Given the description of an element on the screen output the (x, y) to click on. 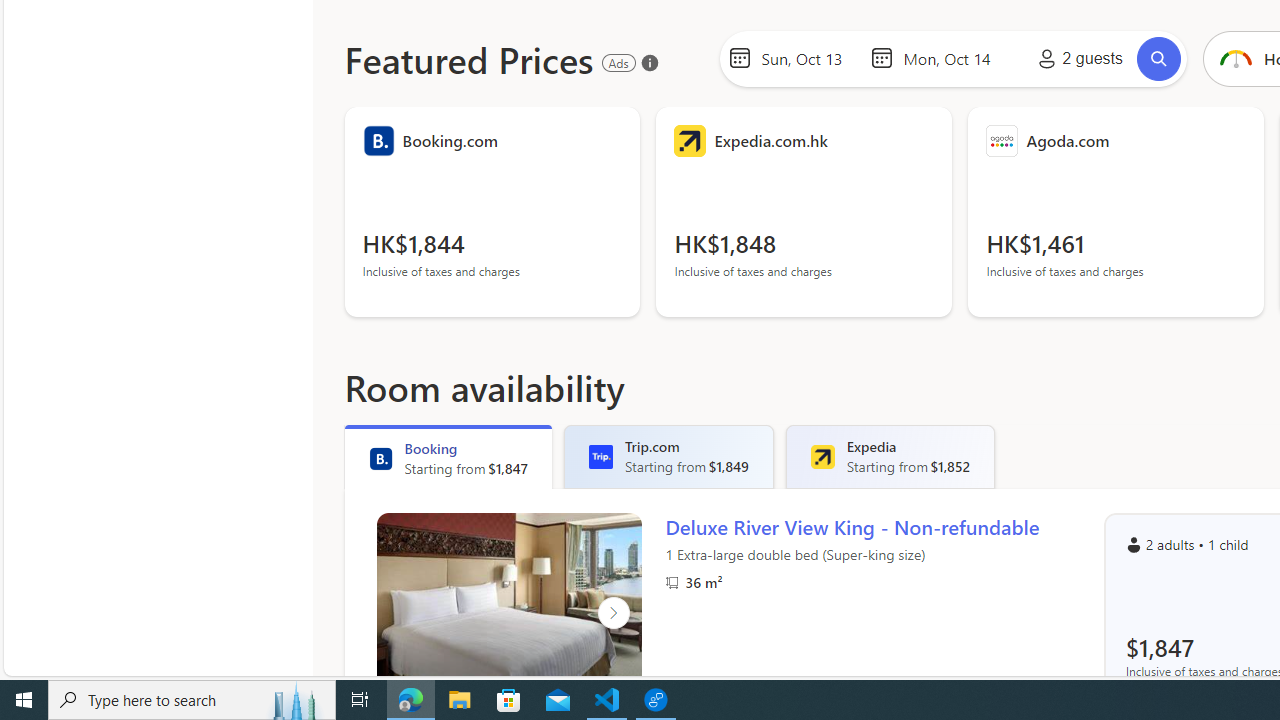
Expedia Expedia Starting from $1,852 (889, 456)
Partner Image (671, 582)
Vendor Logo (1001, 140)
Search (1158, 58)
Booking (380, 458)
About our ads (649, 62)
TripDotCom (601, 456)
2 guests (1076, 58)
Booking Booking Starting from $1,847 (448, 456)
Click to scroll right (612, 612)
